Given the description of an element on the screen output the (x, y) to click on. 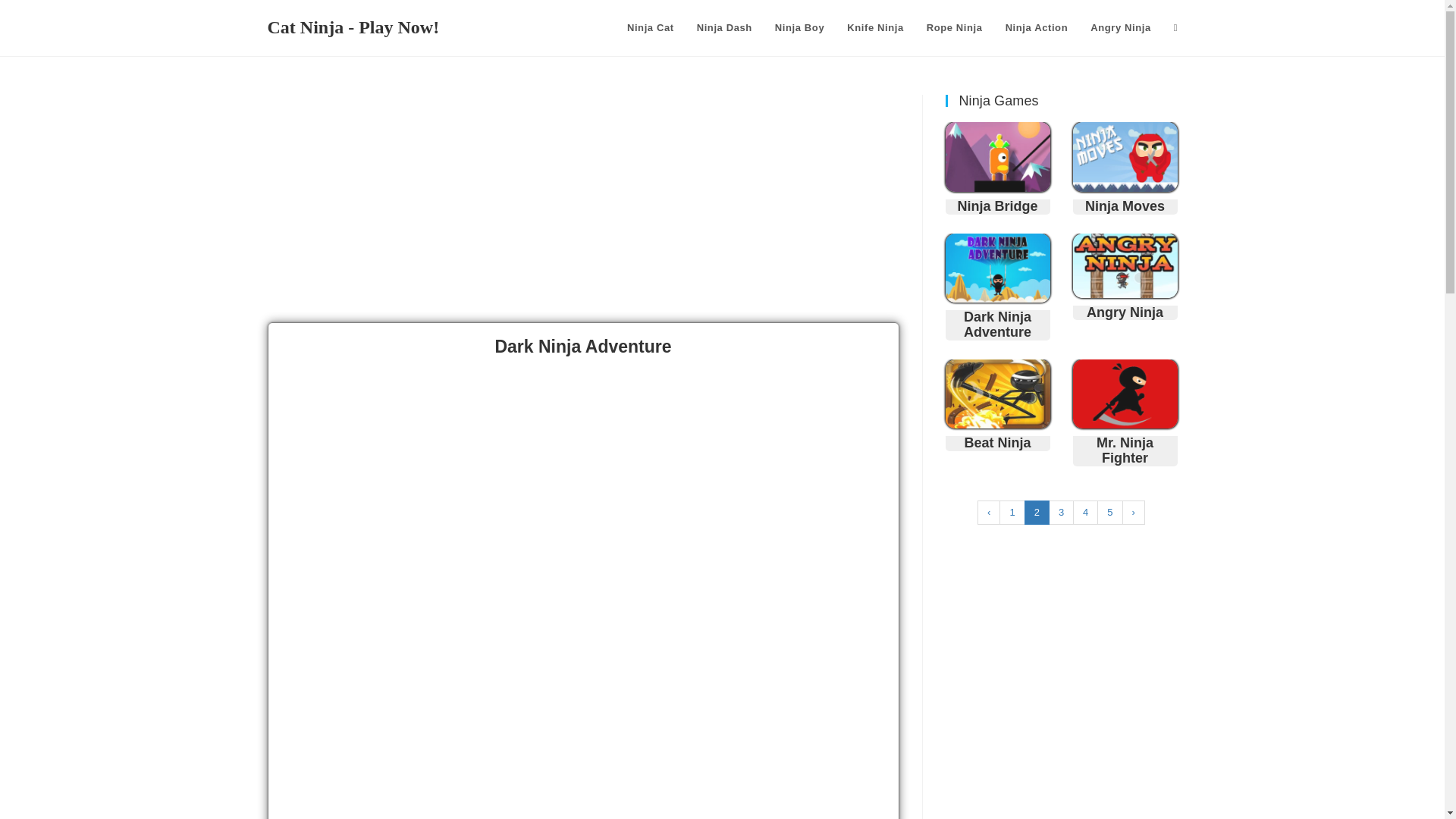
Ninja Dash (723, 28)
Current page is 2 (1037, 512)
Rope Ninja (954, 28)
Go to page 1 (1011, 512)
Go to page 3 (1061, 512)
Angry Ninja (1119, 28)
Cat Ninja - Play Now! (352, 26)
Go to previous page (988, 512)
Knife Ninja (875, 28)
Ninja Cat (650, 28)
Go to page 5 (1109, 512)
Go to next page (1133, 512)
Ninja Boy (798, 28)
Ninja Action (1037, 28)
